Given the description of an element on the screen output the (x, y) to click on. 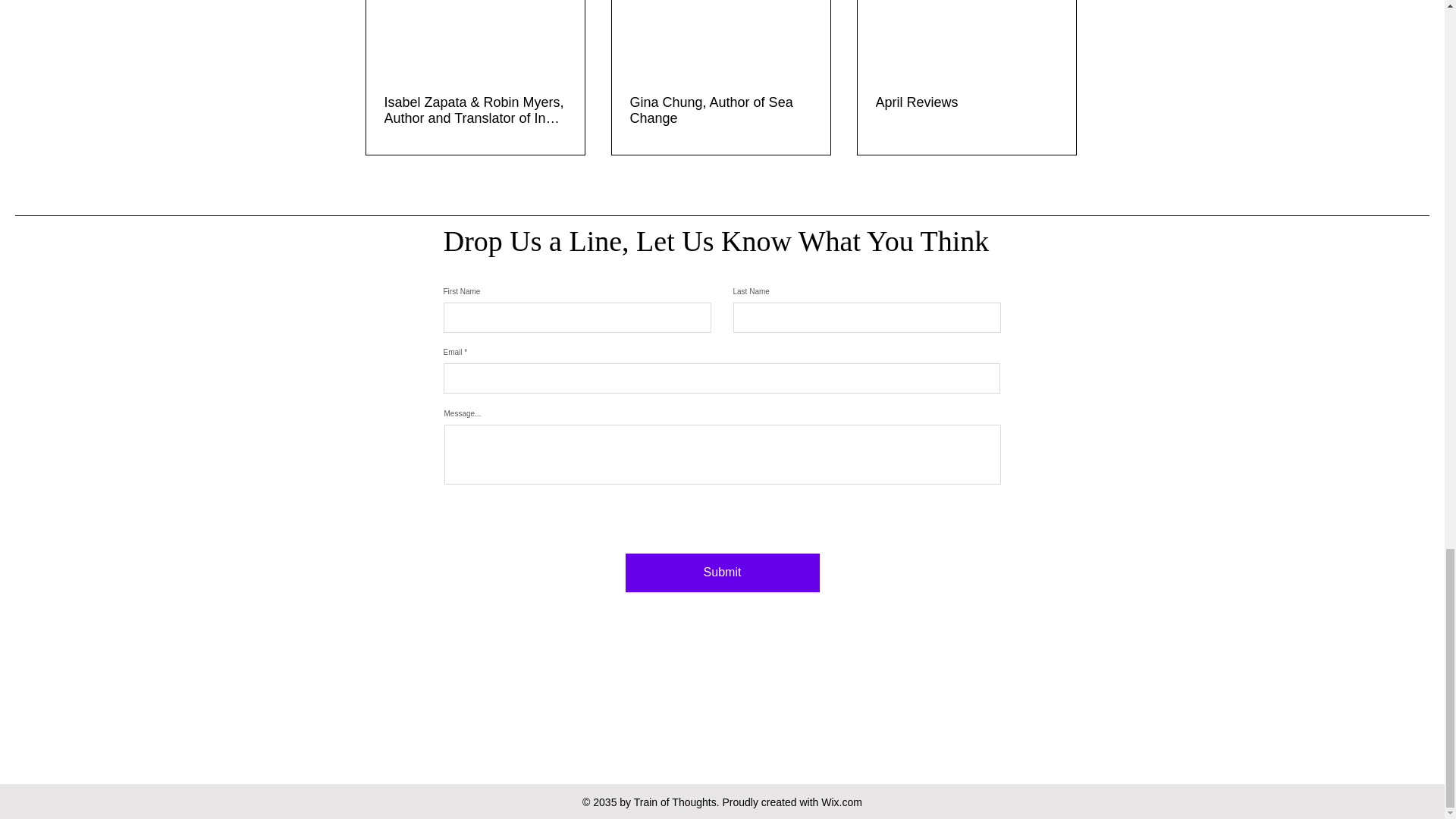
Submit (721, 572)
Wix.com (841, 802)
April Reviews (966, 102)
Gina Chung, Author of Sea Change (719, 110)
